Given the description of an element on the screen output the (x, y) to click on. 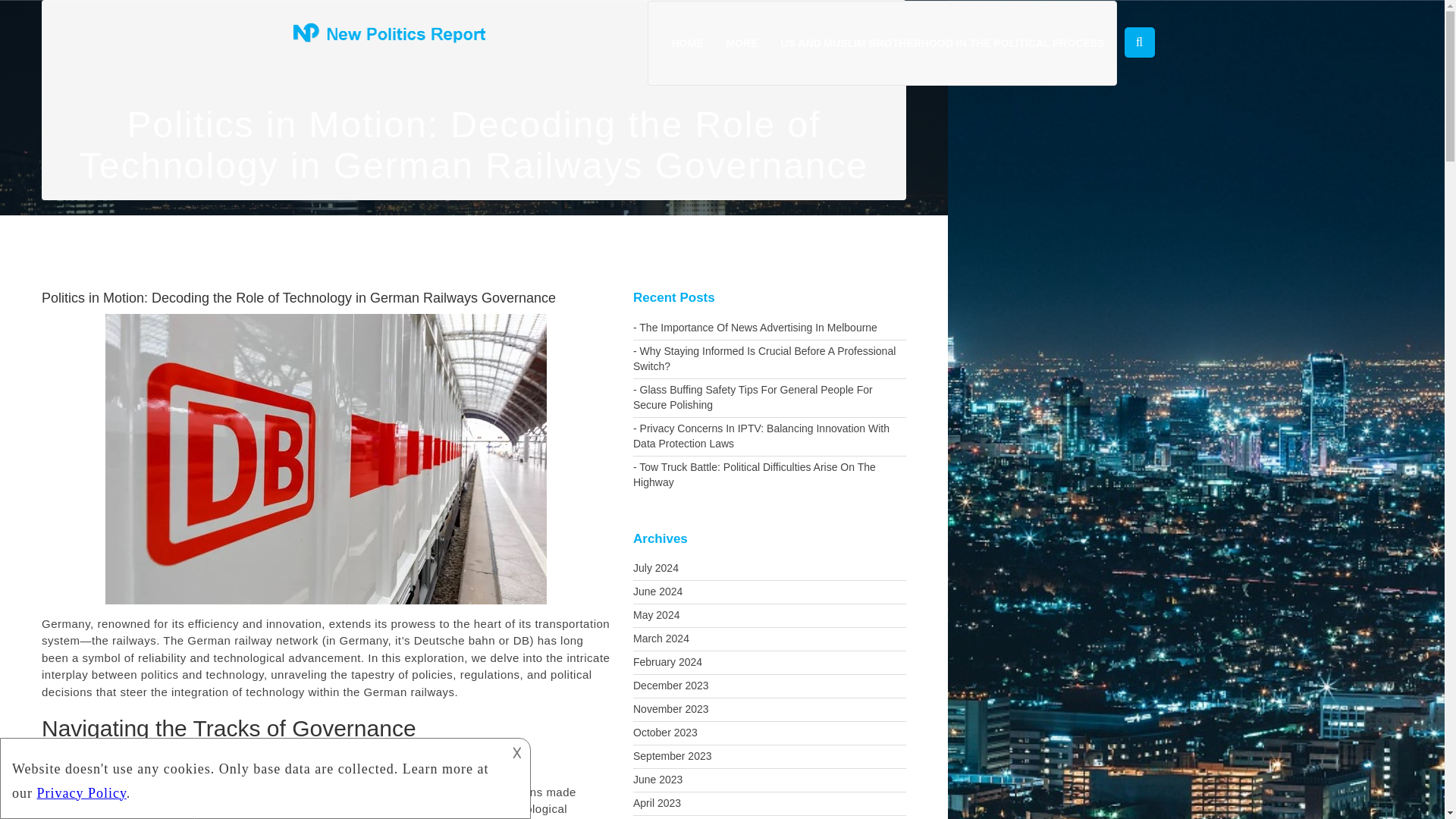
June 2024 (769, 591)
December 2023 (769, 685)
description (252, 776)
September 2023 (769, 756)
March 2024 (769, 639)
February 2024 (769, 662)
April 2023 (769, 803)
The Importance Of News Advertising In Melbourne (769, 327)
November 2023 (769, 709)
October 2023 (769, 732)
July 2024 (769, 568)
